Given the description of an element on the screen output the (x, y) to click on. 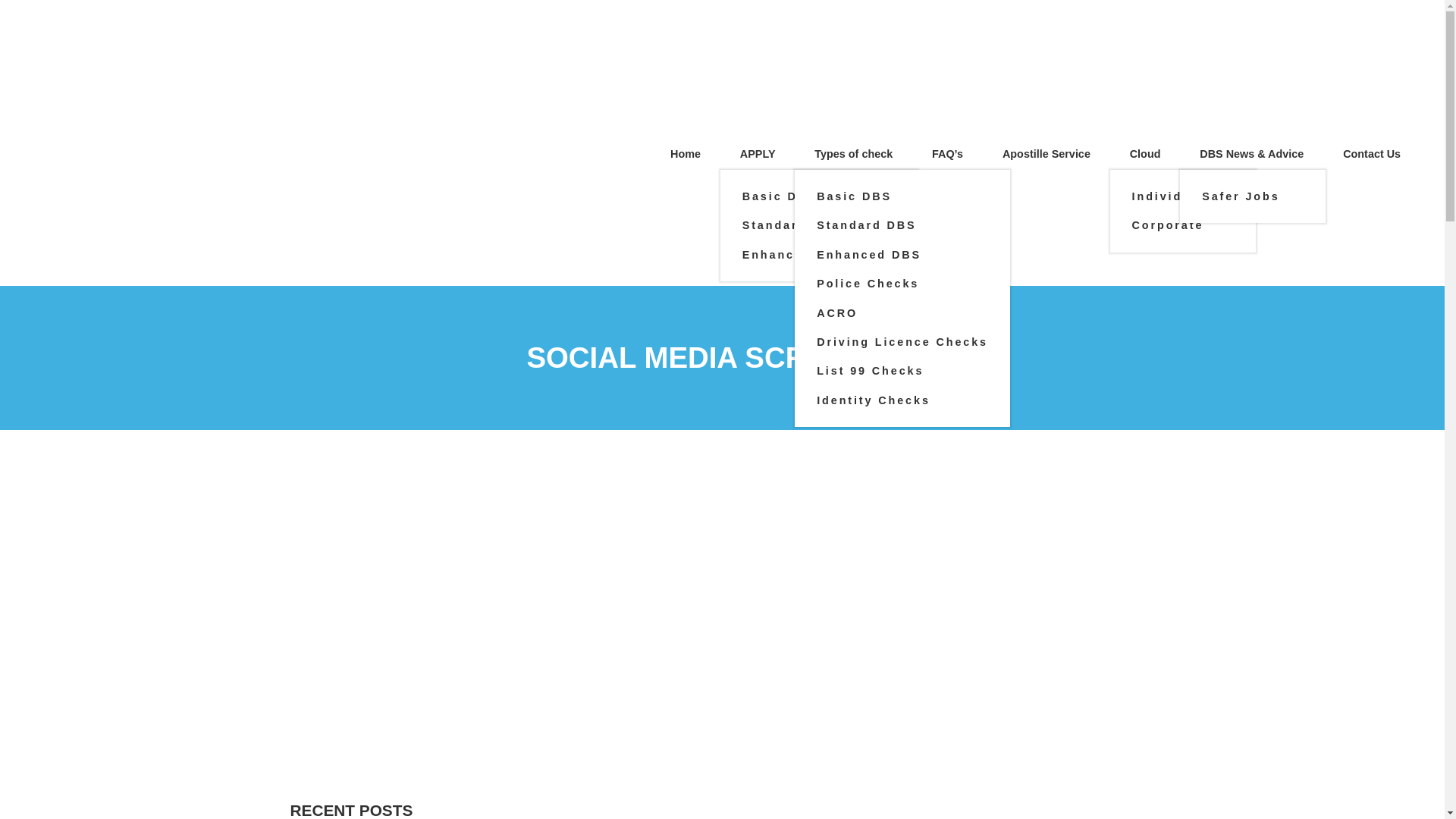
Apostille Service (1045, 142)
Individual (1168, 195)
ACRO (836, 312)
Basic DBS Check (804, 195)
Police Checks (867, 283)
Enhanced DBS Check (818, 254)
Types of check (853, 142)
Safer Jobs (1240, 195)
Standard DBS Check (816, 224)
Basic DBS (853, 195)
